Given the description of an element on the screen output the (x, y) to click on. 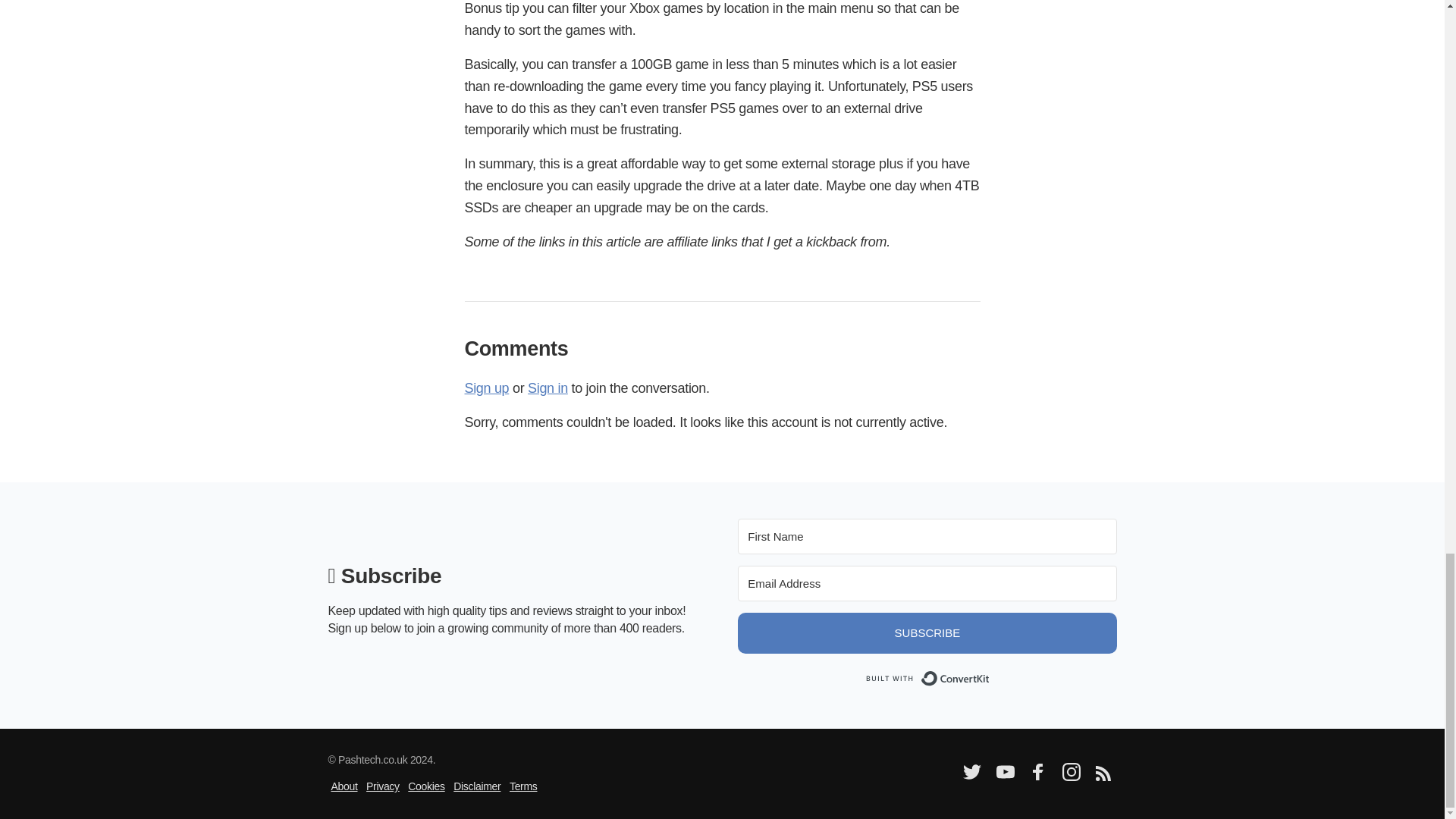
Disclaimer (476, 786)
Terms (523, 786)
Cookies (425, 786)
Built with ConvertKit (927, 678)
Sign up (486, 387)
Sign in (547, 387)
SUBSCRIBE (927, 632)
RSS (1101, 776)
About (343, 786)
Privacy (382, 786)
